Given the description of an element on the screen output the (x, y) to click on. 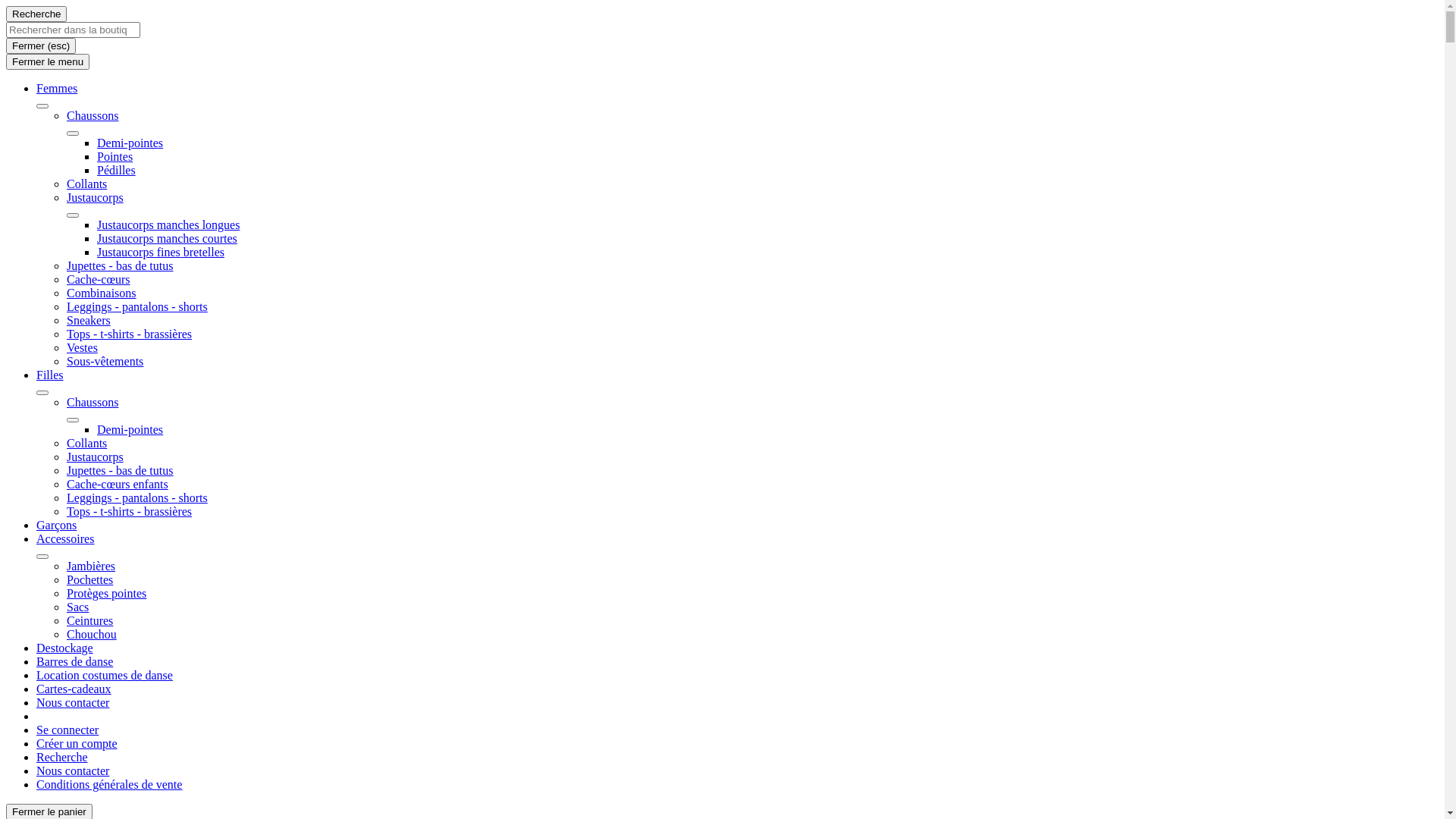
Filles Element type: text (49, 374)
Femmes Element type: text (56, 87)
Justaucorps Element type: text (94, 197)
Chouchou Element type: text (91, 633)
Pointes Element type: text (114, 156)
Combinaisons Element type: text (101, 292)
Nous contacter Element type: text (72, 702)
Recherche Element type: text (61, 756)
Vestes Element type: text (81, 347)
Collants Element type: text (86, 442)
Recherche Element type: text (36, 13)
Collants Element type: text (86, 183)
Leggings - pantalons - shorts Element type: text (136, 497)
Accessoires Element type: text (65, 538)
Chaussons Element type: text (92, 401)
Cartes-cadeaux Element type: text (73, 688)
Fermer le menu Element type: text (47, 61)
Demi-pointes Element type: text (130, 429)
Justaucorps manches longues Element type: text (168, 224)
Location costumes de danse Element type: text (104, 674)
Fermer (esc) Element type: text (40, 45)
Pochettes Element type: text (89, 579)
Se connecter Element type: text (67, 729)
Ceintures Element type: text (89, 620)
Justaucorps Element type: text (94, 456)
Demi-pointes Element type: text (130, 142)
Sneakers Element type: text (88, 319)
Jupettes - bas de tutus Element type: text (119, 470)
Leggings - pantalons - shorts Element type: text (136, 306)
Jupettes - bas de tutus Element type: text (119, 265)
Sacs Element type: text (77, 606)
Justaucorps fines bretelles Element type: text (160, 251)
Destockage Element type: text (64, 647)
Chaussons Element type: text (92, 115)
Justaucorps manches courtes Element type: text (167, 238)
Nous contacter Element type: text (72, 770)
Barres de danse Element type: text (74, 661)
